Given the description of an element on the screen output the (x, y) to click on. 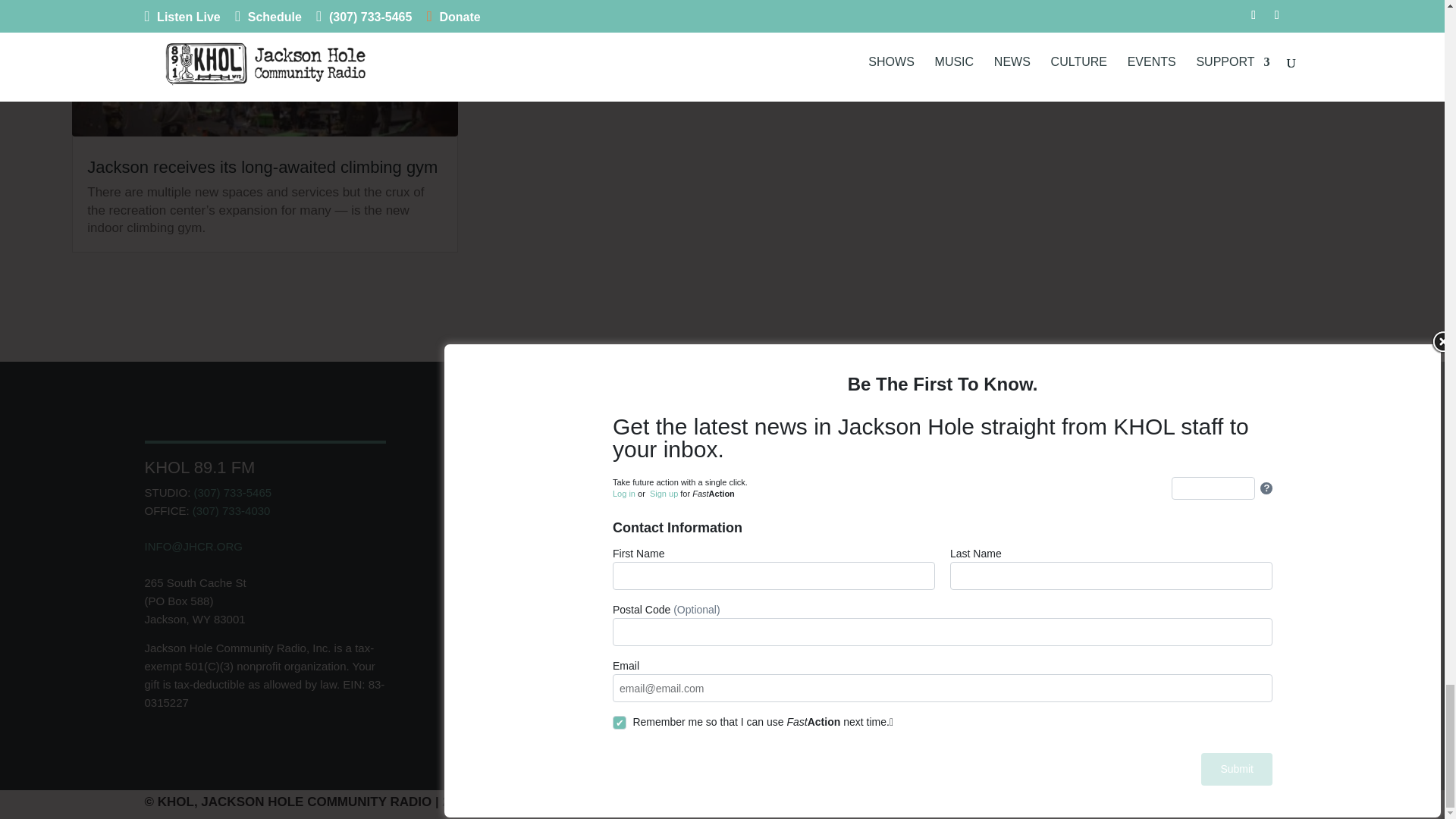
radio-bilingue-logo-white (556, 503)
PRX-Logo-Horizontal-White (557, 575)
jackson-hole-center-for-the-arts-logo-white (721, 555)
RMCR-logo (722, 491)
